Given the description of an element on the screen output the (x, y) to click on. 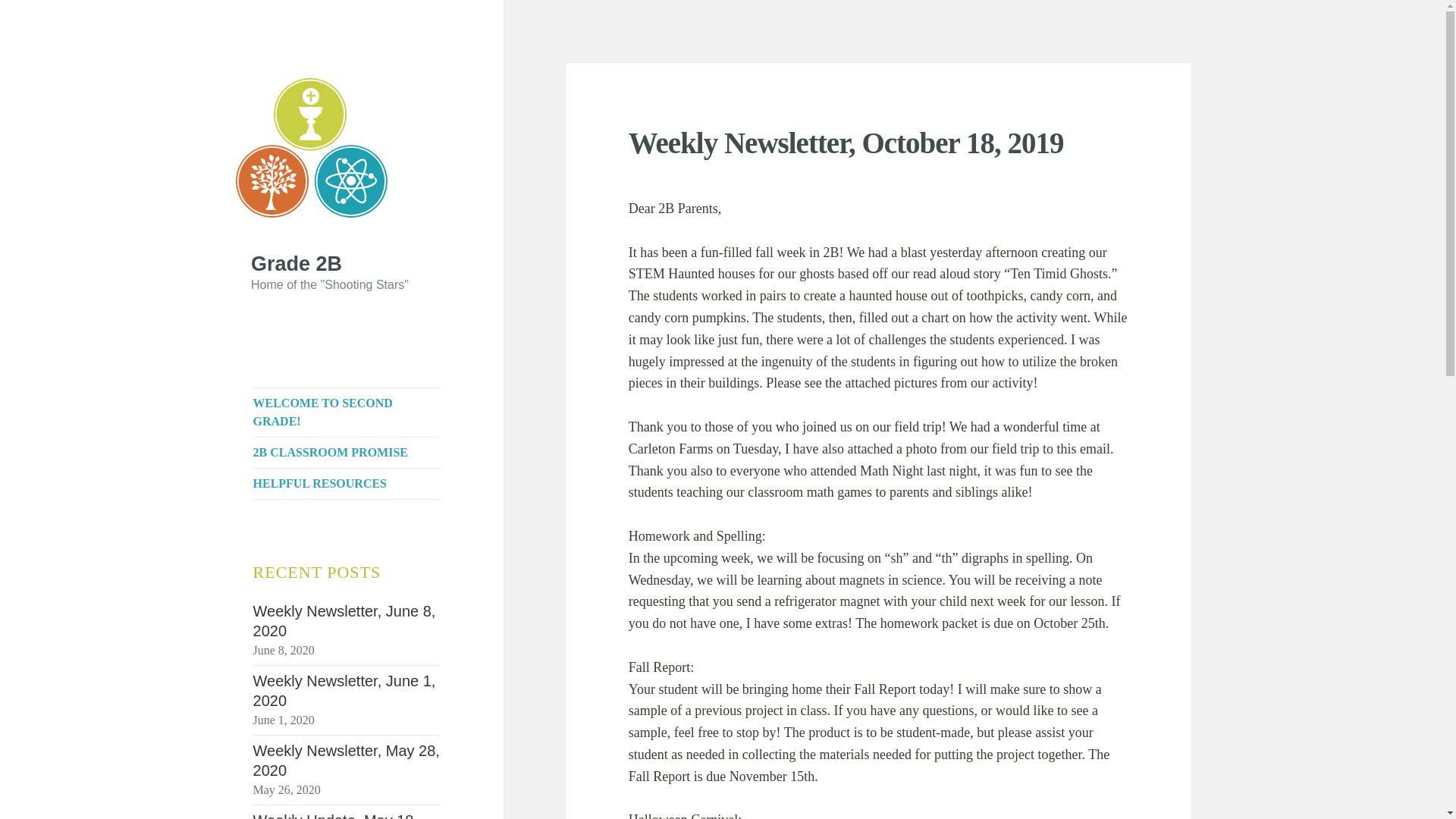
Weekly Update, May 18, 2020 (336, 815)
Weekly Newsletter, May 28, 2020 (346, 760)
Weekly Newsletter, June 8, 2020 (344, 620)
2B CLASSROOM PROMISE (347, 452)
Grade 2B (296, 263)
HELPFUL RESOURCES (347, 483)
Weekly Newsletter, June 1, 2020 (344, 690)
WELCOME TO SECOND GRADE! (347, 412)
